Given the description of an element on the screen output the (x, y) to click on. 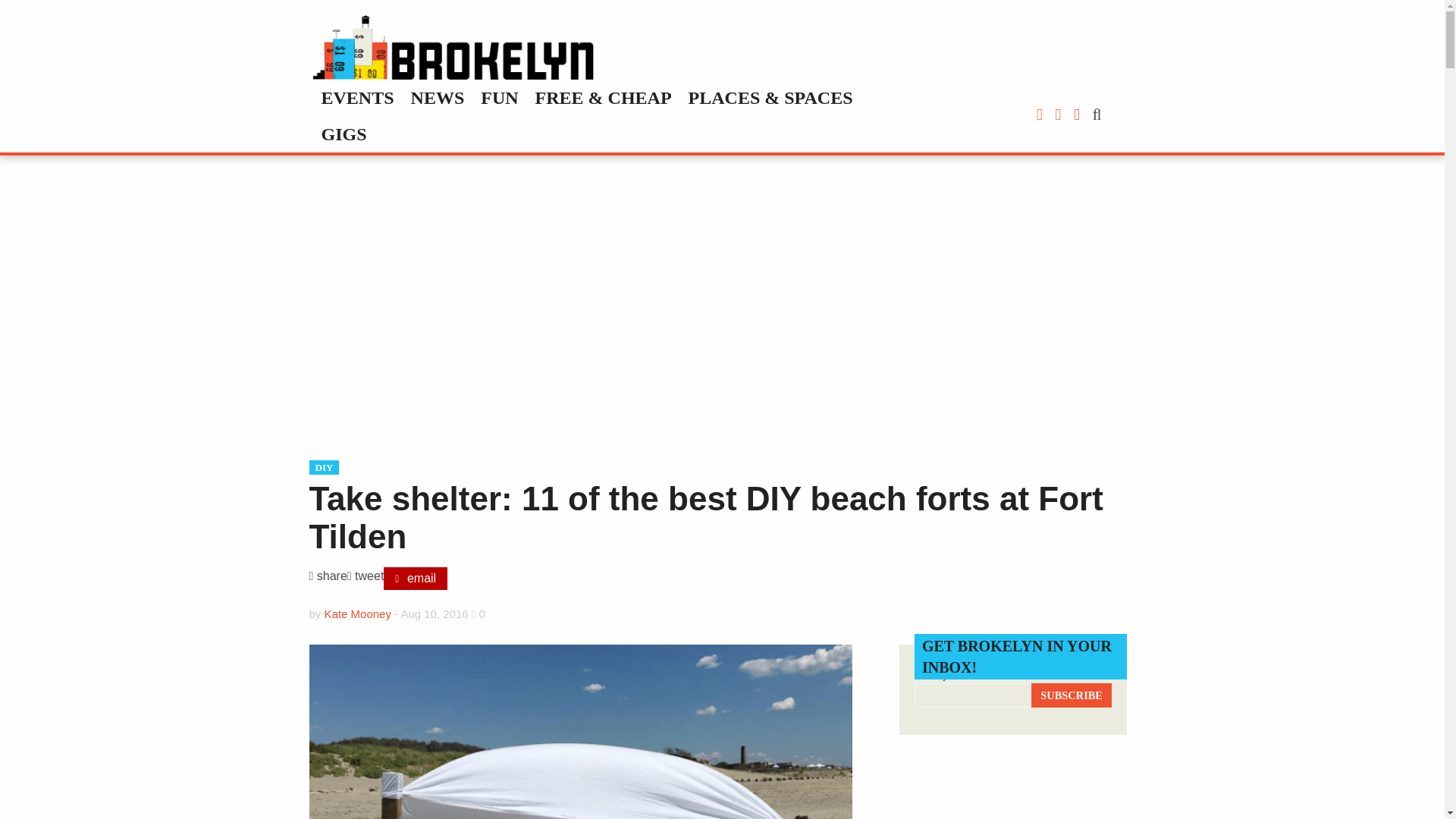
3rd party ad content (1012, 791)
EVENTS (357, 97)
email (415, 578)
Share link on Facebook (327, 578)
NEWS (438, 97)
FUN (498, 97)
DIY (323, 467)
GIGS (343, 134)
Subscribe (1071, 695)
Kate Mooney (357, 613)
Share link on Twitter (365, 578)
